Given the description of an element on the screen output the (x, y) to click on. 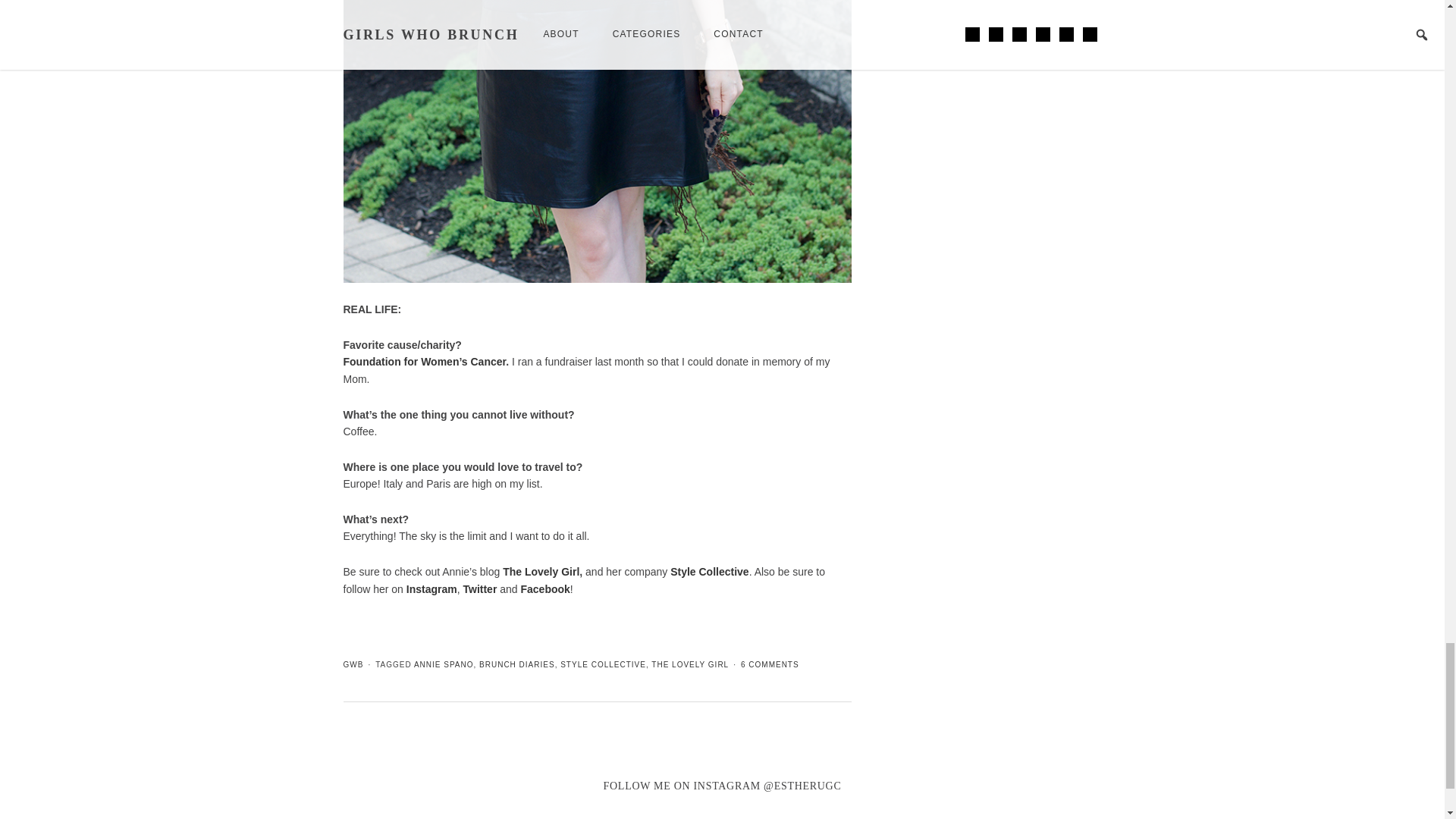
The Lovely Girl (540, 571)
STYLE COLLECTIVE (603, 664)
Facebook (544, 589)
GWB (352, 664)
BRUNCH DIARIES (516, 664)
ANNIE SPANO (443, 664)
THE LOVELY GIRL (689, 664)
Instagram (431, 589)
Twitter (479, 589)
Style Collective (709, 571)
